Given the description of an element on the screen output the (x, y) to click on. 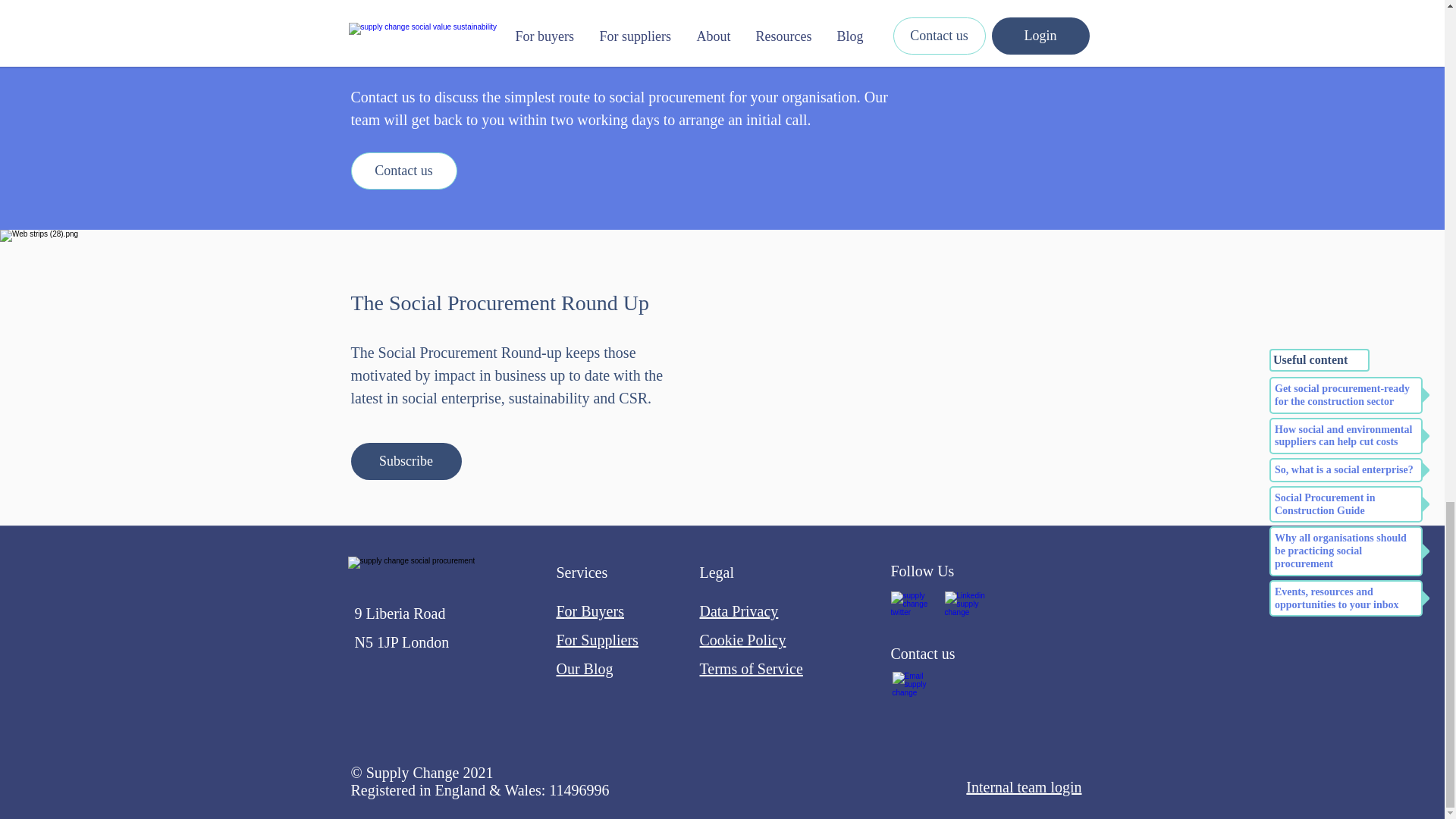
Our Blog (584, 668)
Terms of Service (750, 668)
Subscribe (405, 461)
Internal team login (1023, 786)
For Suppliers (597, 639)
Contact us (403, 170)
Cookie Policy (742, 639)
Data Privacy (737, 610)
For Buyers (590, 610)
